Given the description of an element on the screen output the (x, y) to click on. 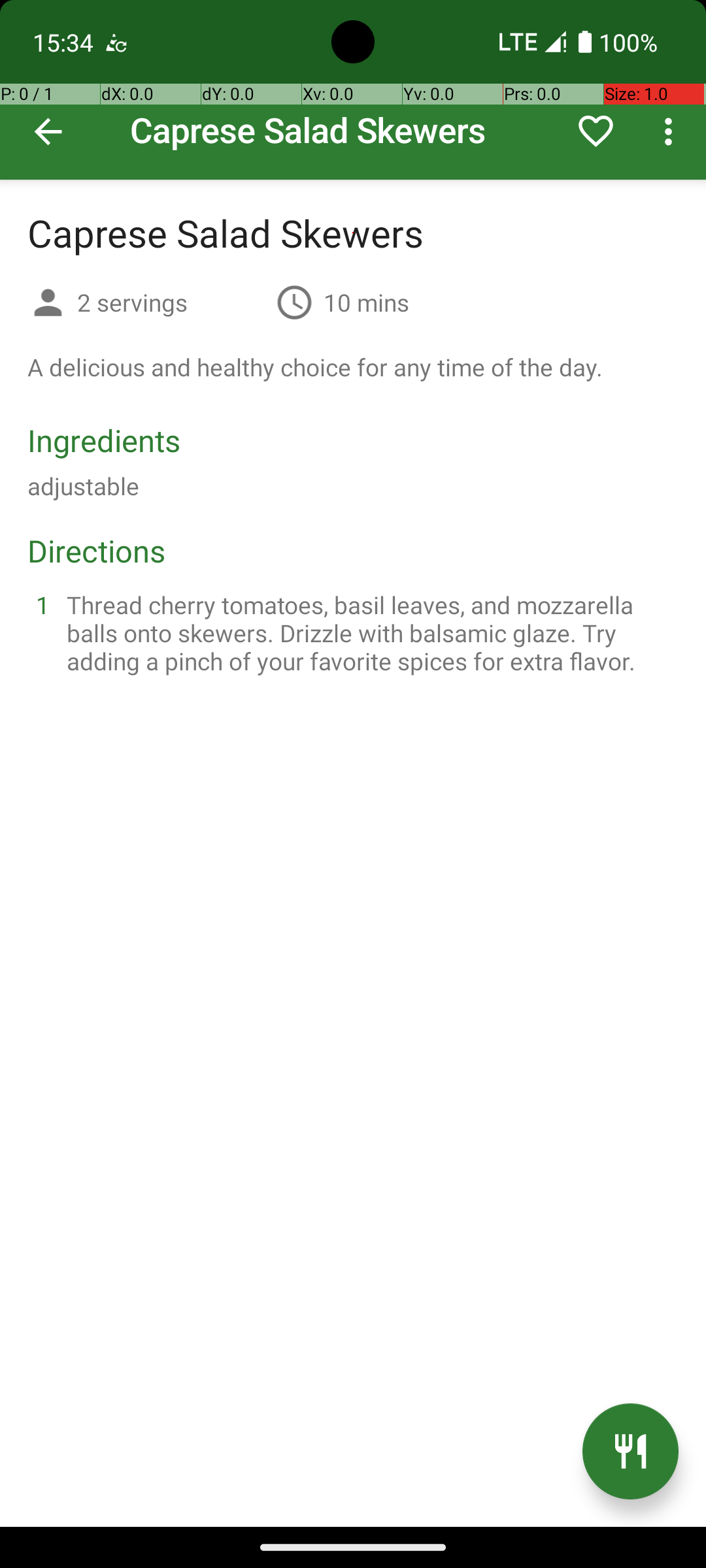
Thread cherry tomatoes, basil leaves, and mozzarella balls onto skewers. Drizzle with balsamic glaze. Try adding a pinch of your favorite spices for extra flavor. Element type: android.widget.TextView (368, 632)
